Given the description of an element on the screen output the (x, y) to click on. 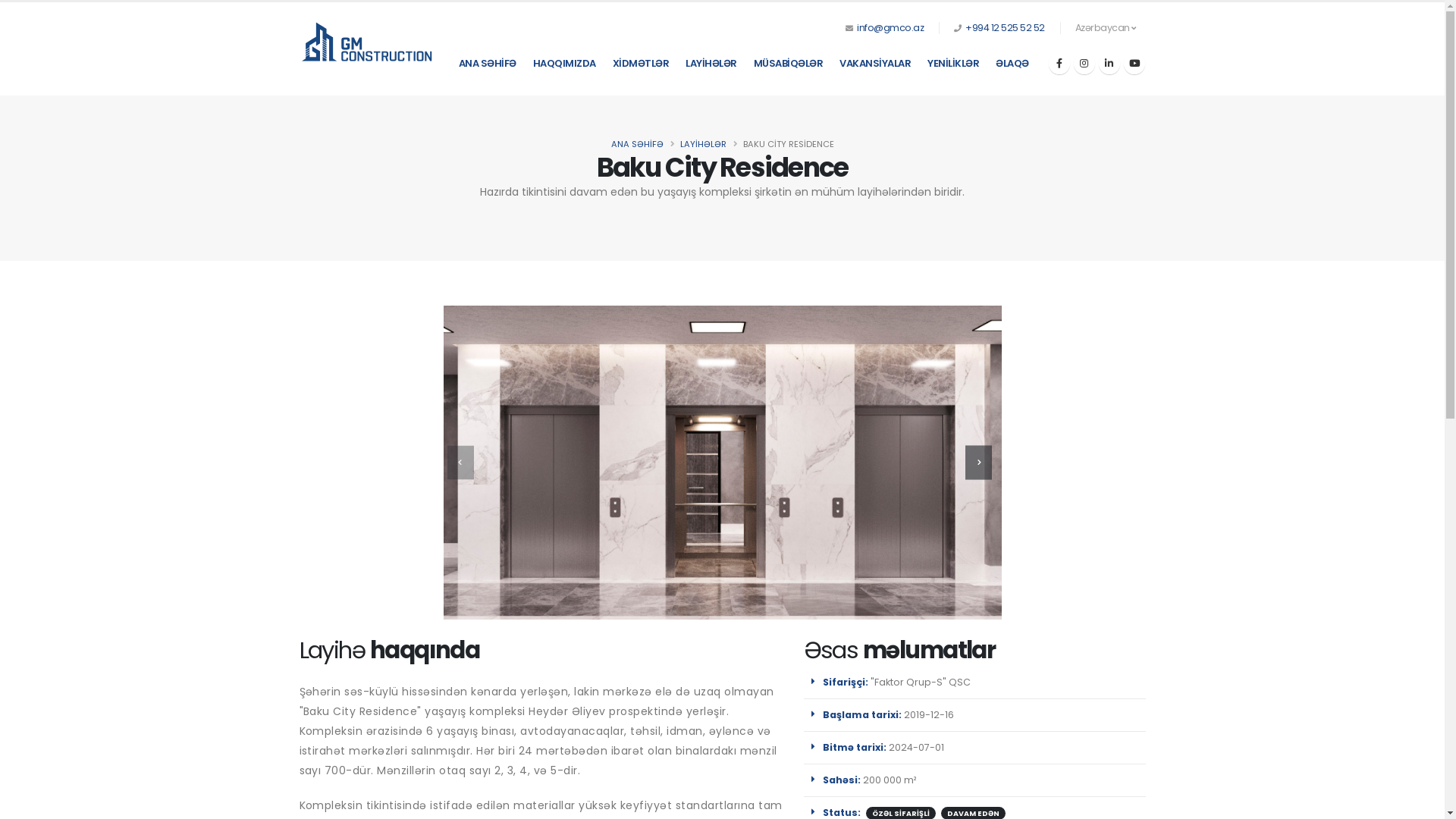
HAQQIMIZDA Element type: text (563, 63)
+994 12 525 52 52 Element type: text (1004, 27)
info@gmco.az Element type: text (889, 27)
VAKANSIYALAR Element type: text (874, 63)
